Given the description of an element on the screen output the (x, y) to click on. 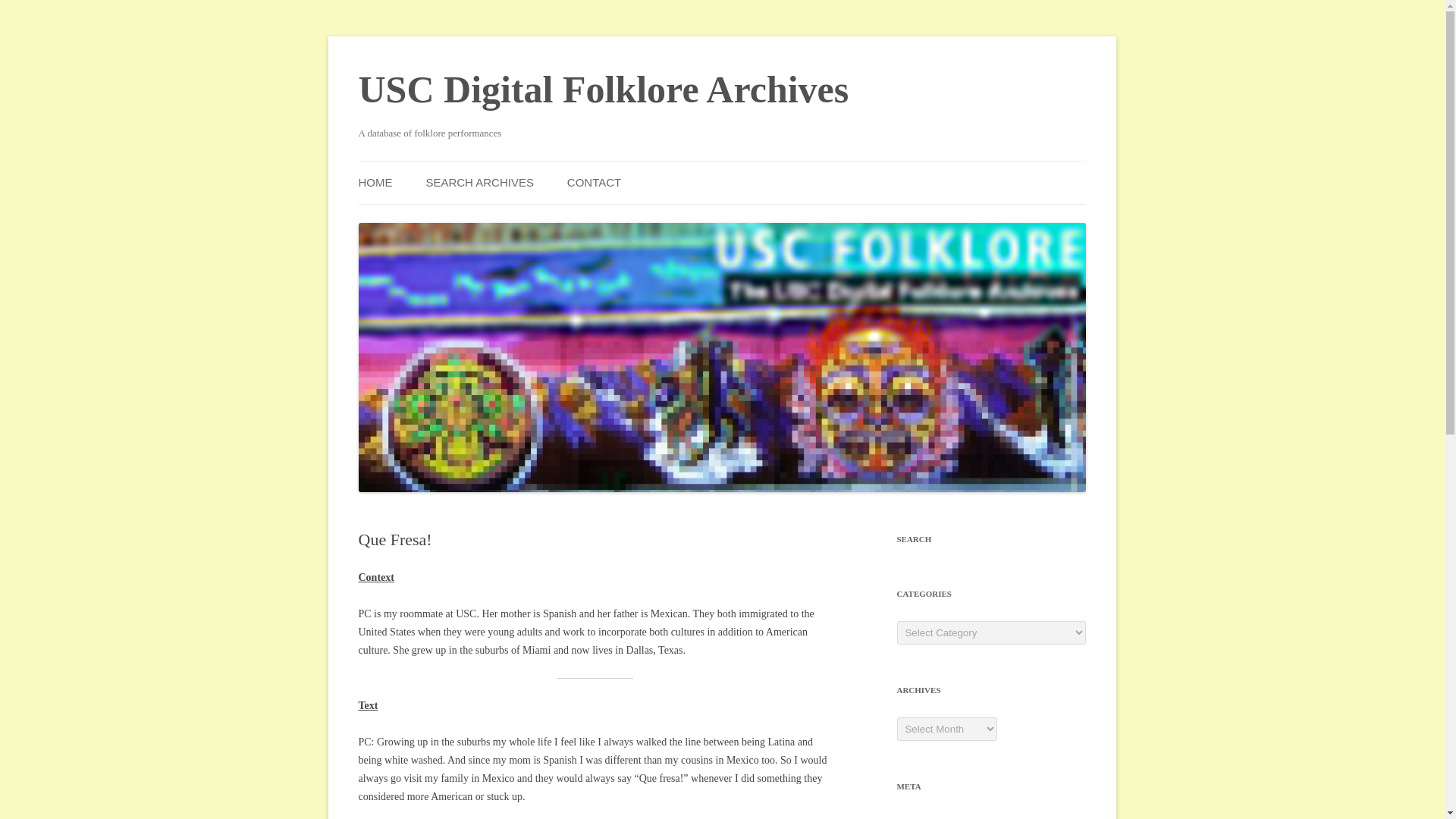
USC Digital Folklore Archives (603, 89)
CONTACT (594, 182)
USC Digital Folklore Archives (603, 89)
Log in (909, 817)
SEARCH ARCHIVES (479, 182)
